Given the description of an element on the screen output the (x, y) to click on. 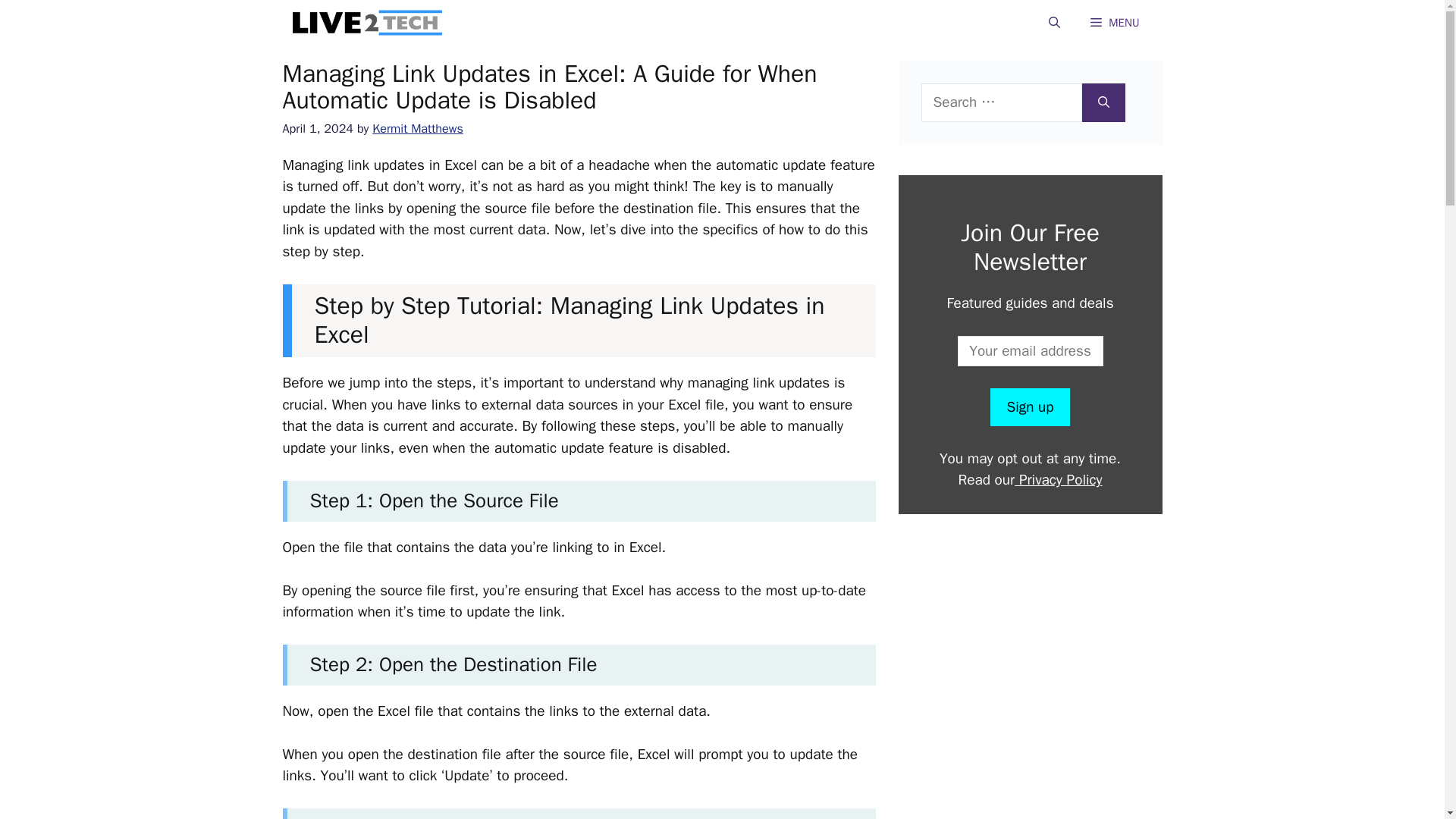
MENU (1114, 22)
Sign up (1029, 407)
Kermit Matthews (417, 128)
